Given the description of an element on the screen output the (x, y) to click on. 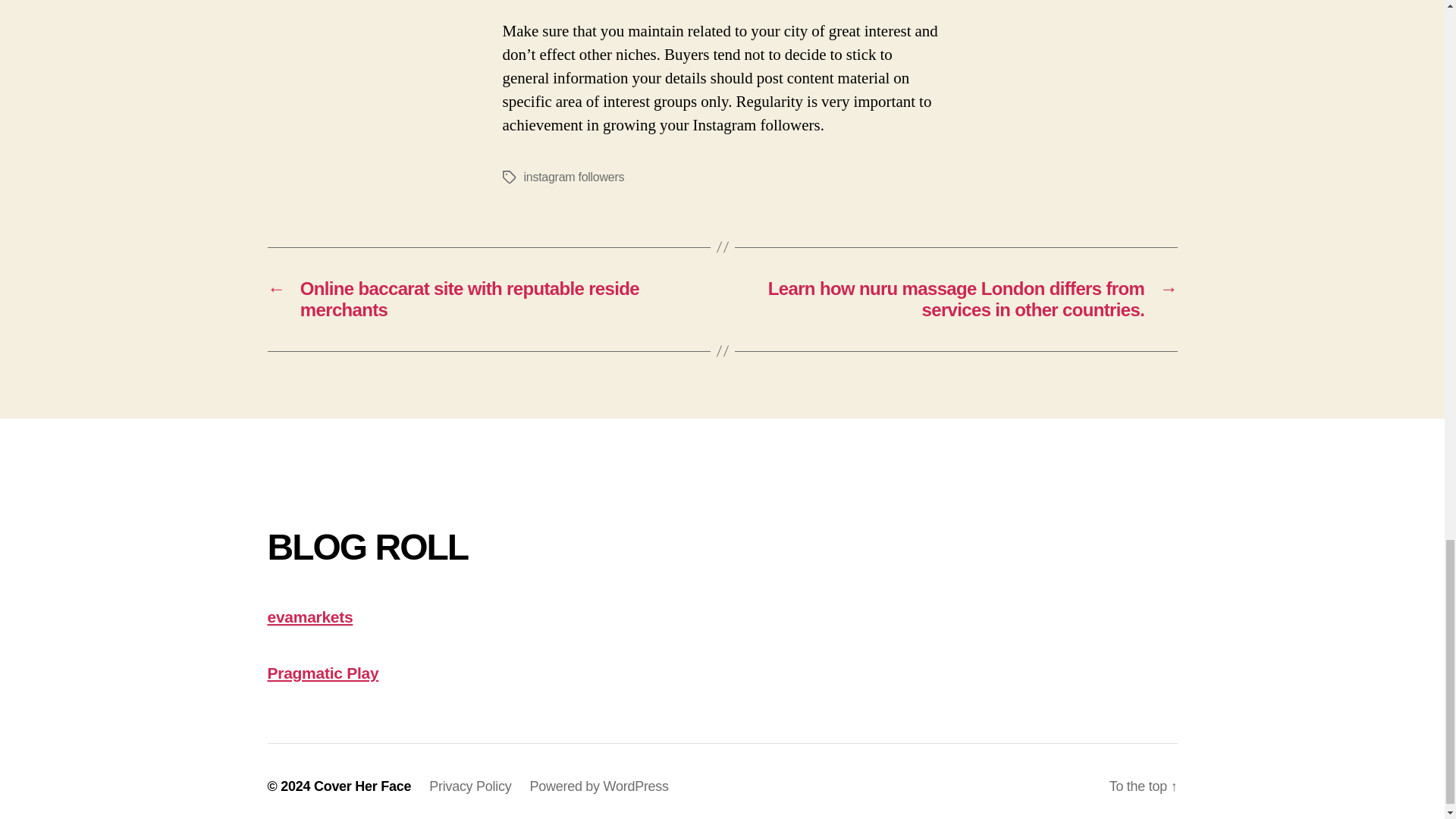
evamarkets (309, 616)
Powered by WordPress (598, 785)
instagram followers (573, 176)
Cover Her Face (362, 785)
Pragmatic Play (322, 672)
Privacy Policy (470, 785)
